Given the description of an element on the screen output the (x, y) to click on. 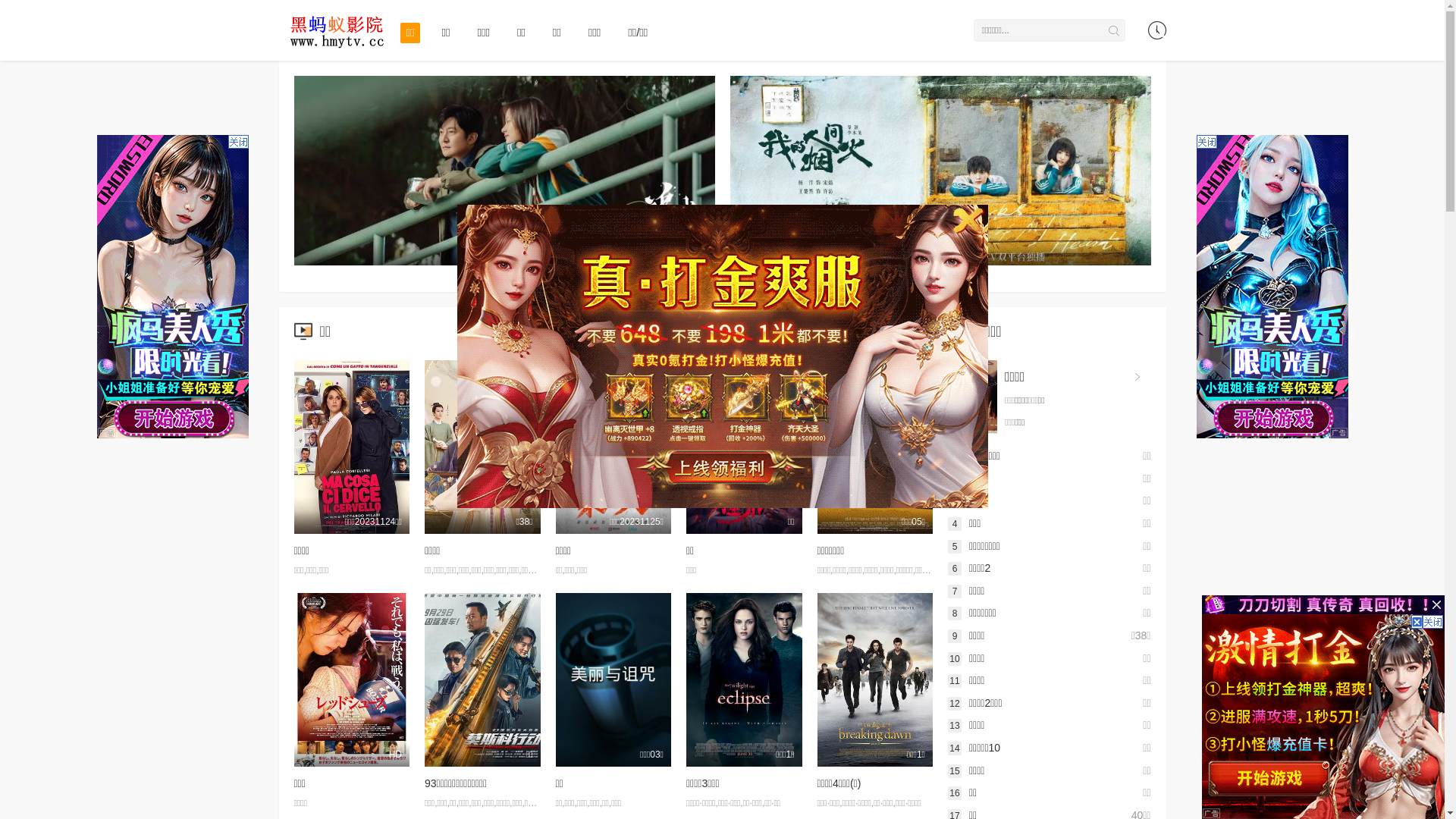
HD Element type: text (352, 679)
